Given the description of an element on the screen output the (x, y) to click on. 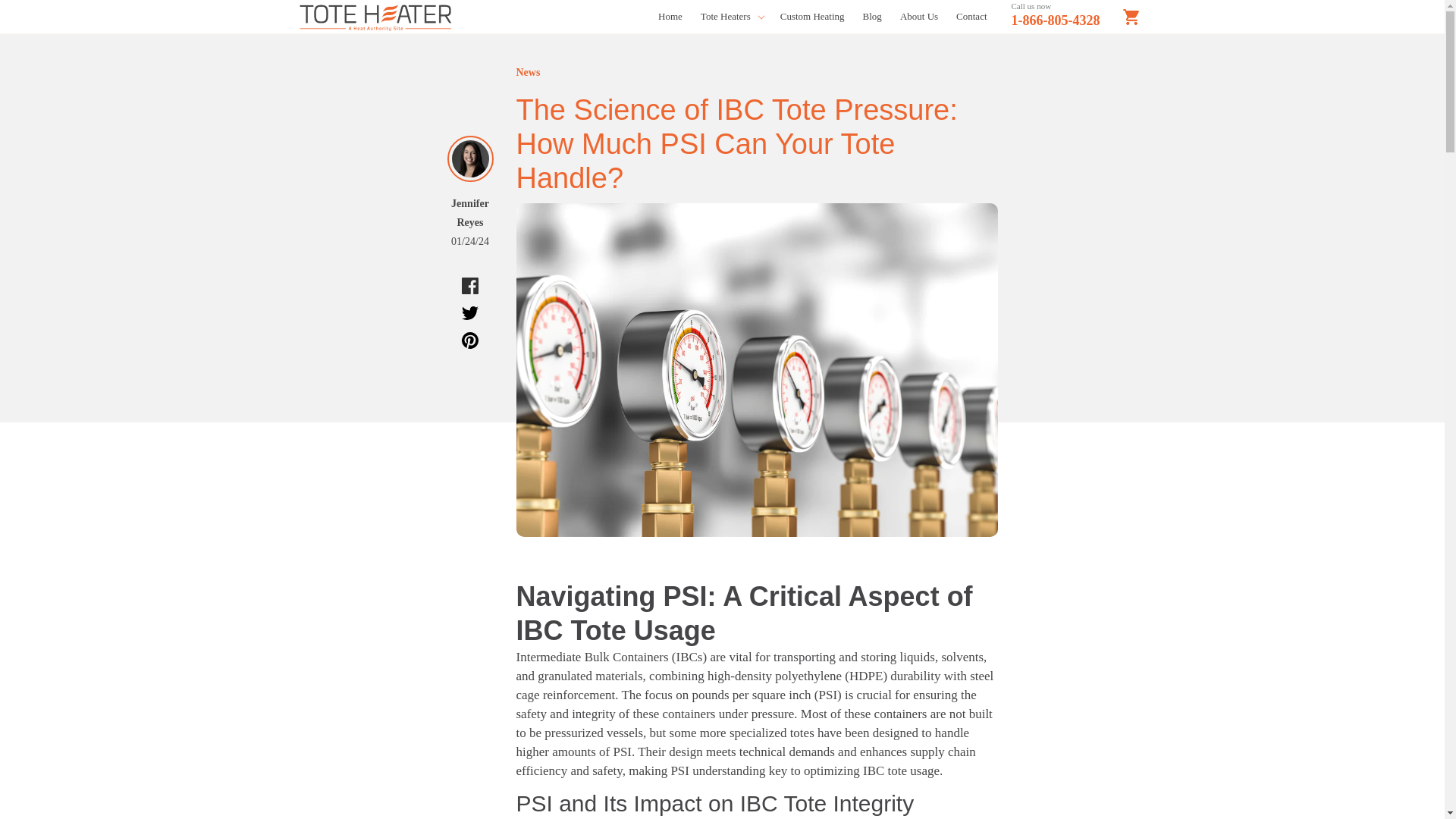
Cart (1131, 16)
1-866-805-4328 (1055, 20)
Home (670, 16)
Skip to content (66, 18)
Blog (872, 16)
About Us (919, 16)
Custom Heating (812, 16)
Contact (971, 16)
